Given the description of an element on the screen output the (x, y) to click on. 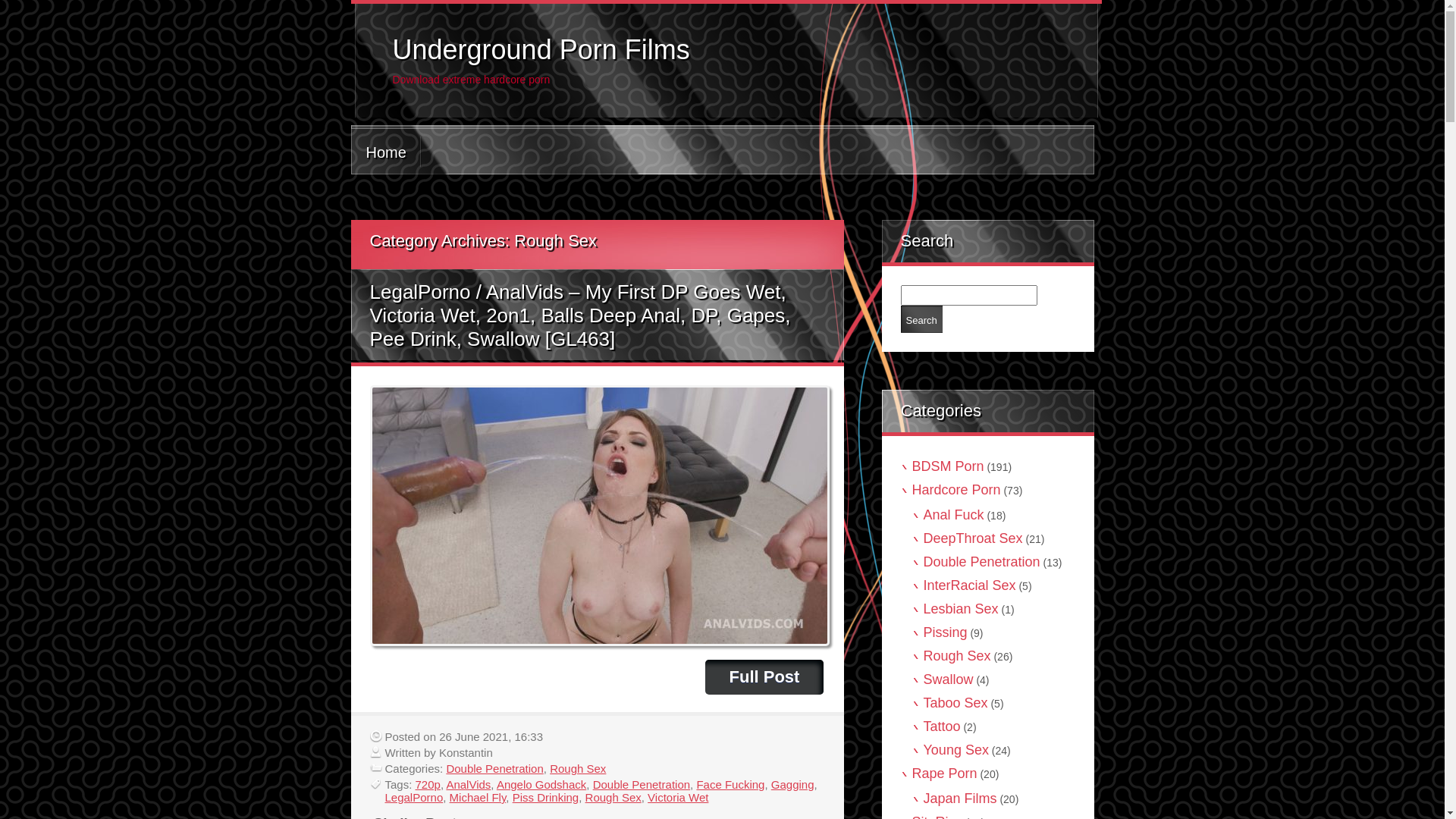
720p Element type: text (427, 784)
Angelo Godshack Element type: text (541, 784)
Lesbian Sex Element type: text (960, 608)
Double Penetration Element type: text (981, 561)
Michael Fly Element type: text (477, 796)
AnalVids Element type: text (467, 784)
Piss Drinking Element type: text (545, 796)
Taboo Sex Element type: text (955, 702)
Young Sex Element type: text (955, 749)
DeepThroat Sex Element type: text (972, 538)
Victoria Wet Element type: text (677, 796)
Swallow Element type: text (948, 679)
Double Penetration Element type: text (493, 768)
InterRacial Sex Element type: text (969, 585)
Home Element type: text (385, 152)
LegalPorno Element type: text (414, 796)
Face Fucking Element type: text (730, 784)
Hardcore Porn Element type: text (955, 489)
Rough Sex Element type: text (957, 655)
Rape Porn Element type: text (943, 773)
Underground Porn Films Element type: text (541, 49)
Pissing Element type: text (945, 632)
Gagging Element type: text (792, 784)
Tattoo Element type: text (941, 726)
Search Element type: text (921, 318)
Rough Sex Element type: text (577, 768)
Full Post Element type: text (764, 676)
Japan Films Element type: text (960, 798)
BDSM Porn Element type: text (947, 465)
Double Penetration Element type: text (641, 784)
Rough Sex Element type: text (613, 796)
Anal Fuck Element type: text (953, 514)
